Given the description of an element on the screen output the (x, y) to click on. 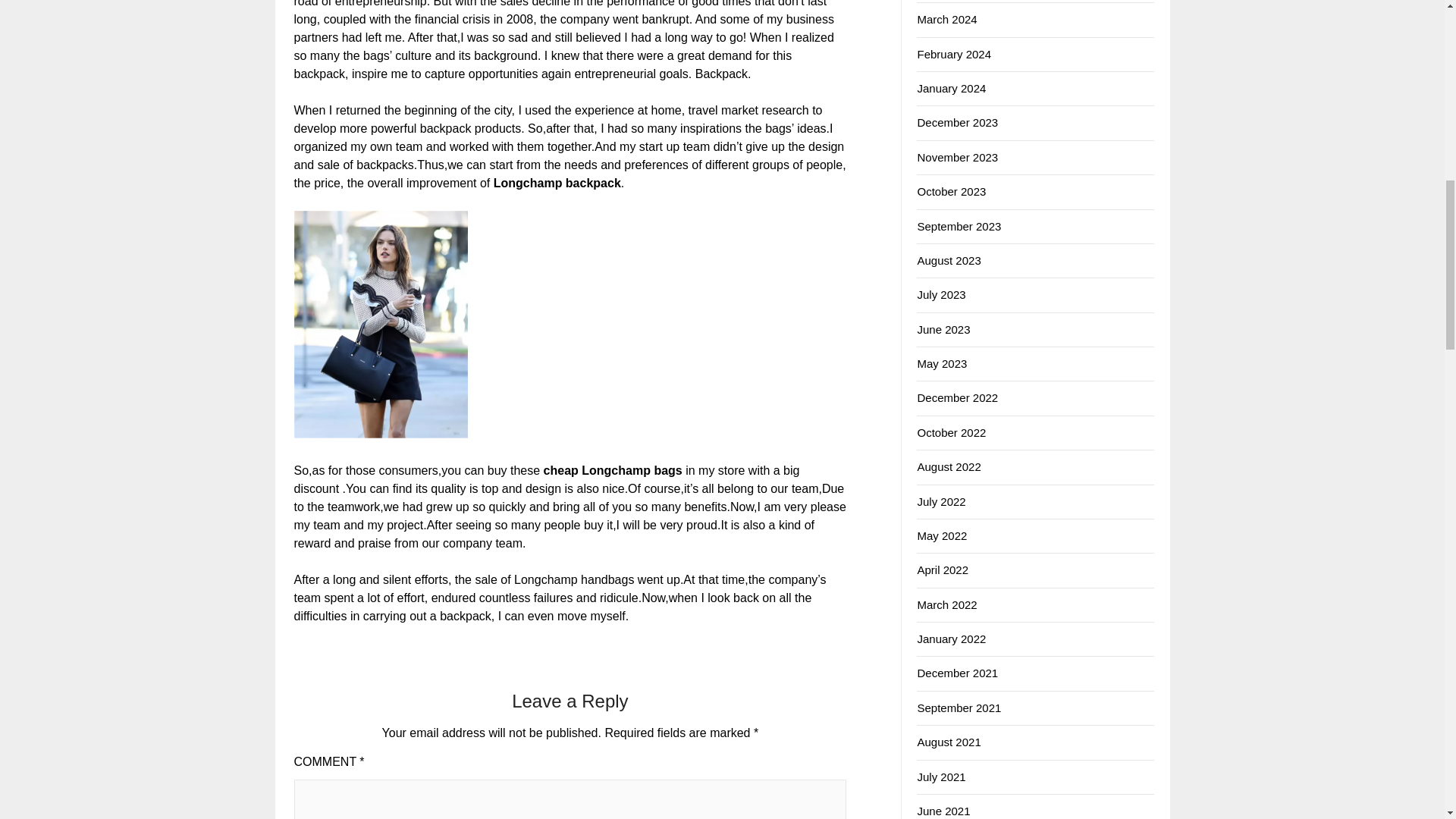
November 2023 (957, 156)
April 2022 (942, 569)
January 2024 (951, 88)
May 2022 (941, 535)
July 2023 (941, 294)
June 2023 (943, 328)
March 2024 (946, 19)
March 2022 (946, 604)
October 2023 (951, 191)
December 2022 (957, 397)
